Given the description of an element on the screen output the (x, y) to click on. 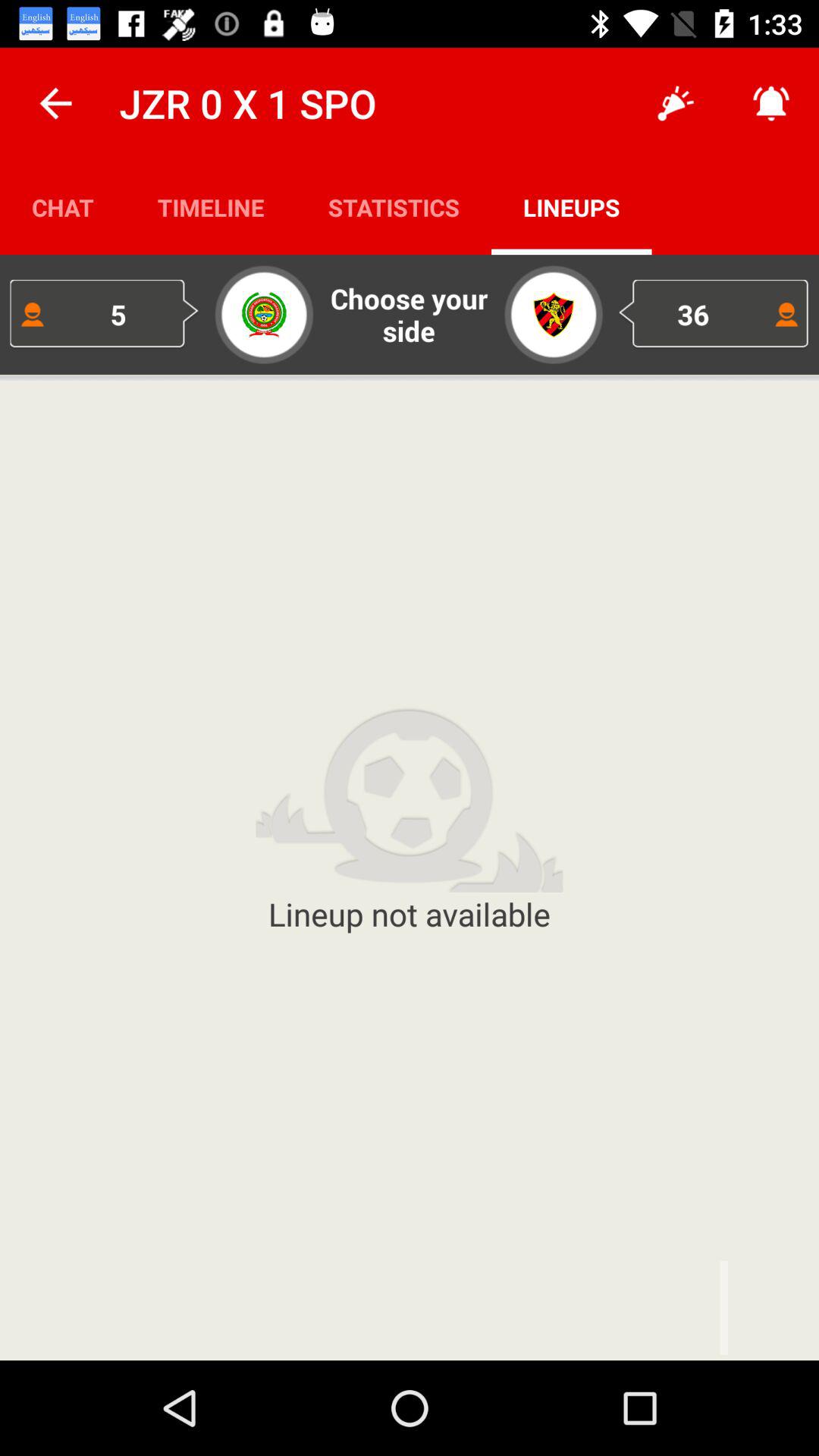
press the icon next to jzr 0 x icon (55, 103)
